Given the description of an element on the screen output the (x, y) to click on. 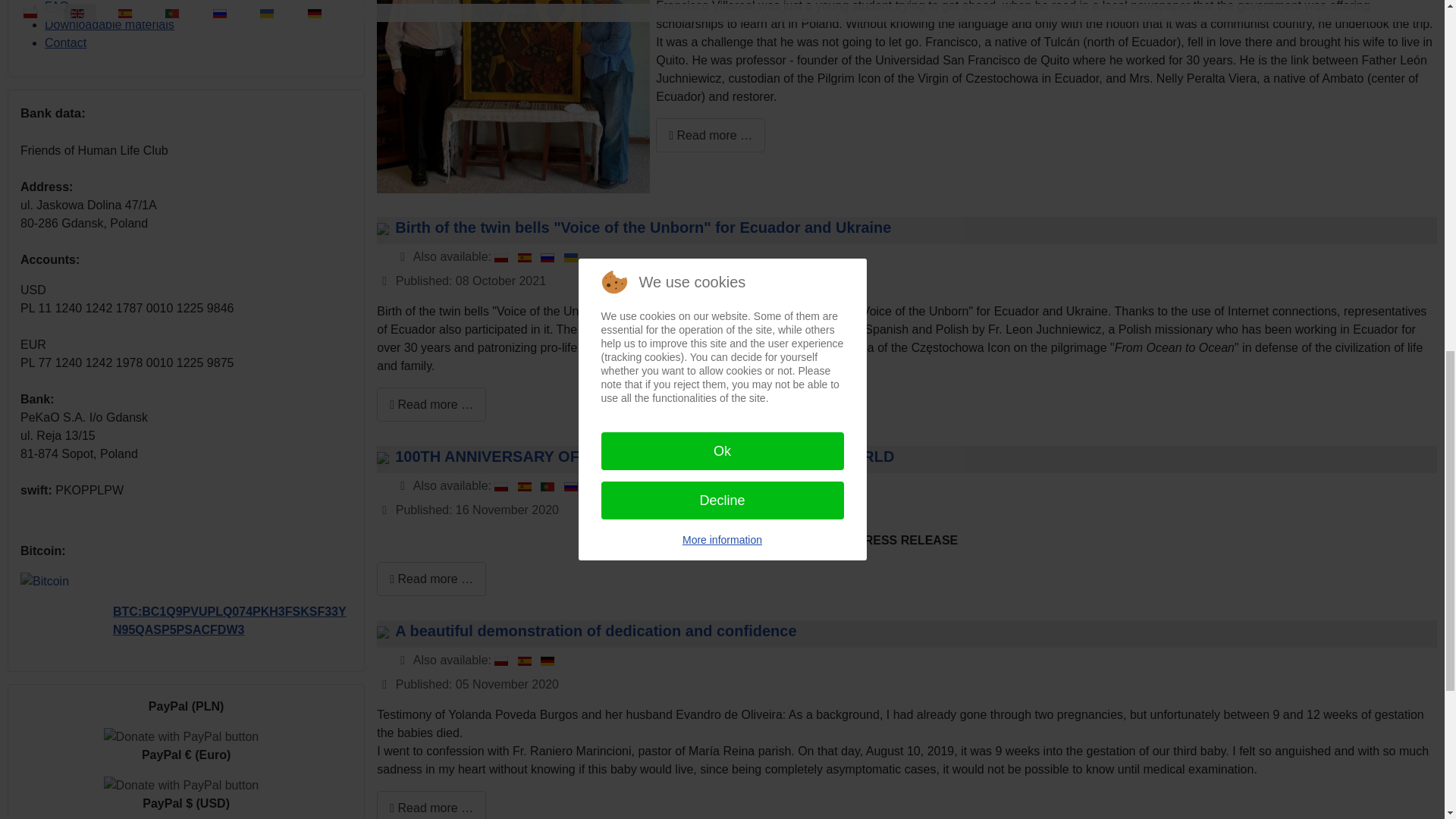
FAQ (56, 6)
PayPal - The safer, easier way to pay online! (181, 785)
Contact (65, 42)
BTC:BC1Q9PVUPLQ074PKH3FSKSF33YN95QASP5PSACFDW3 (229, 620)
Downloadable materials (109, 24)
PayPal - The safer, easier way to pay online! (181, 737)
